Given the description of an element on the screen output the (x, y) to click on. 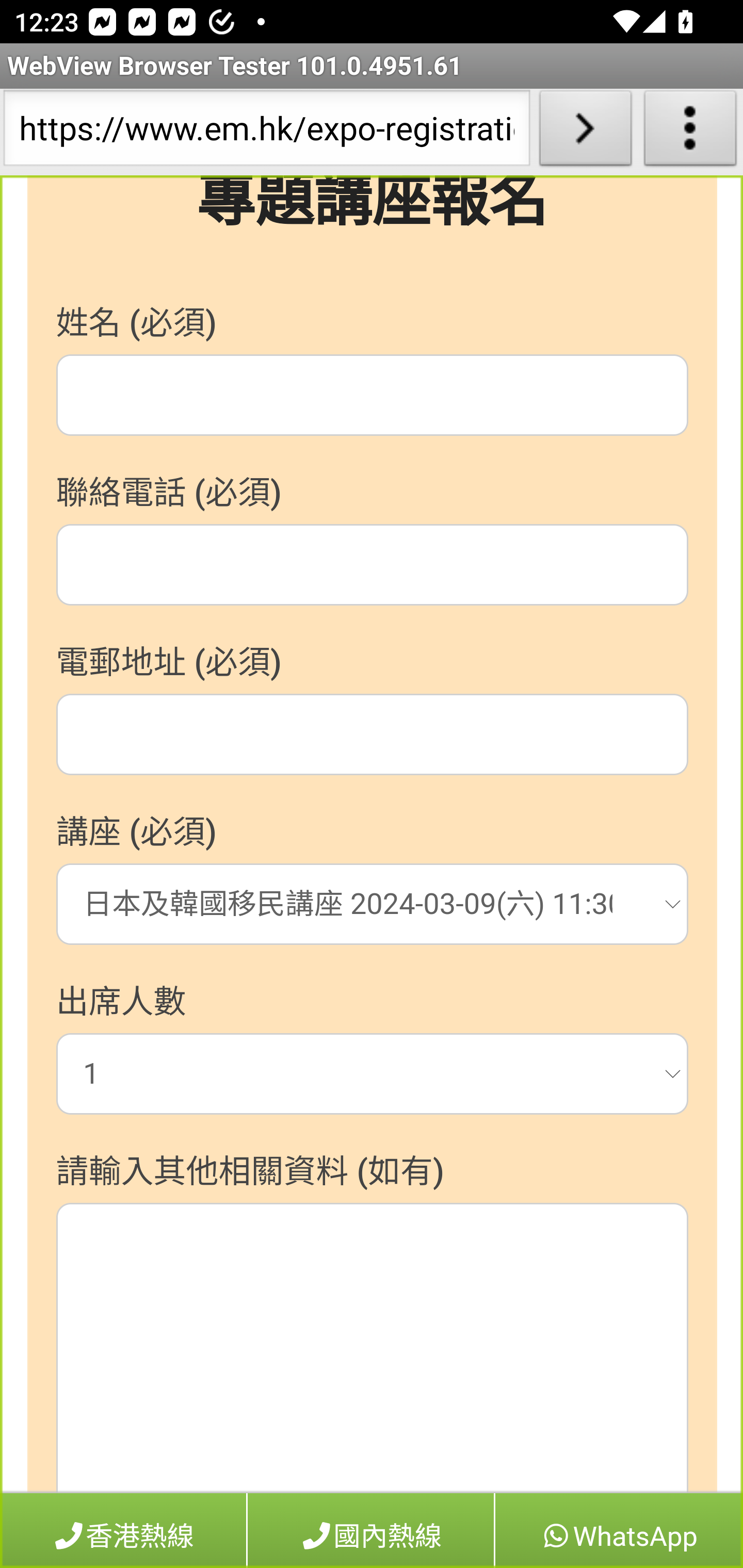
Load URL (585, 132)
About WebView (690, 132)
日本及韓國移民講座 2024-03-09(六) 11:30 - 12:30 (371, 905)
1 (371, 1074)
香港熱線 (123, 1530)
國內熱線 (370, 1530)
WhatsApp (618, 1530)
